Given the description of an element on the screen output the (x, y) to click on. 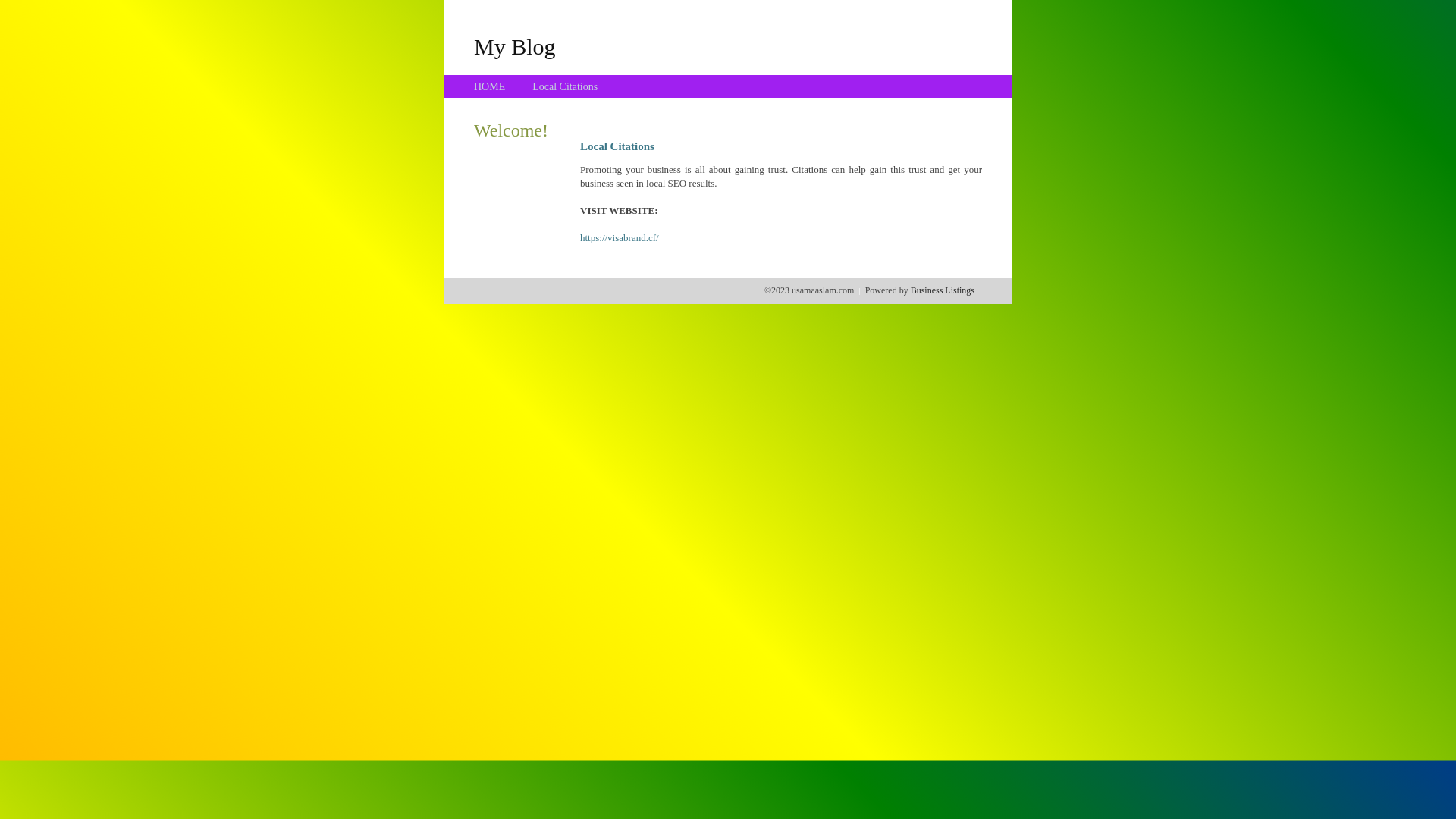
HOME Element type: text (489, 86)
Local Citations Element type: text (564, 86)
https://visabrand.cf/ Element type: text (619, 237)
My Blog Element type: text (514, 46)
Business Listings Element type: text (942, 290)
